Given the description of an element on the screen output the (x, y) to click on. 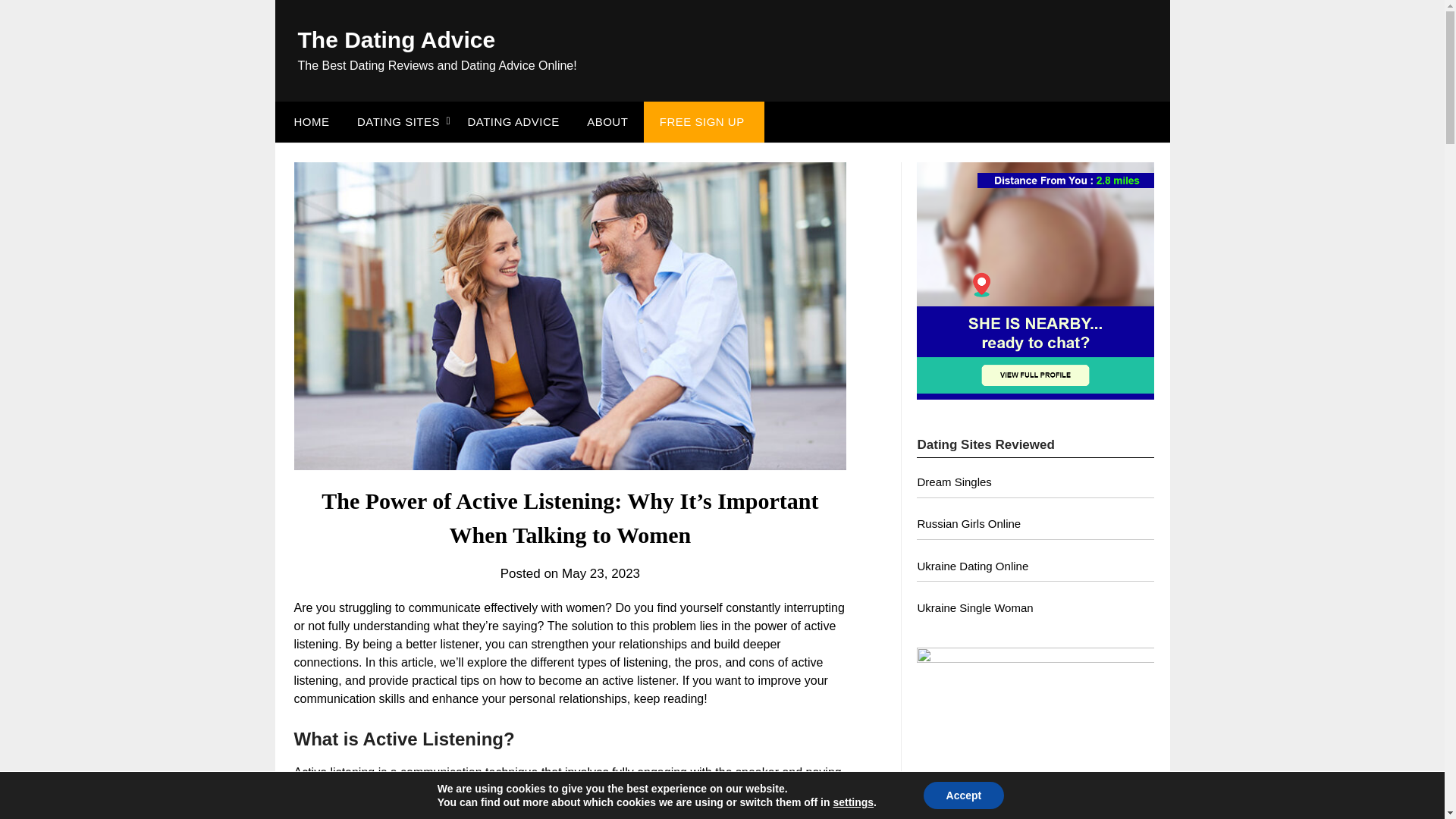
Ukraine Dating Online (972, 565)
FREE SIGN UP (702, 121)
Ukraine Single Woman (974, 607)
DATING SITES (398, 121)
DATING ADVICE (512, 121)
Russian Girls Online (968, 522)
ABOUT (607, 121)
The Dating Advice (396, 39)
HOME (307, 121)
Dream Singles (954, 481)
